Given the description of an element on the screen output the (x, y) to click on. 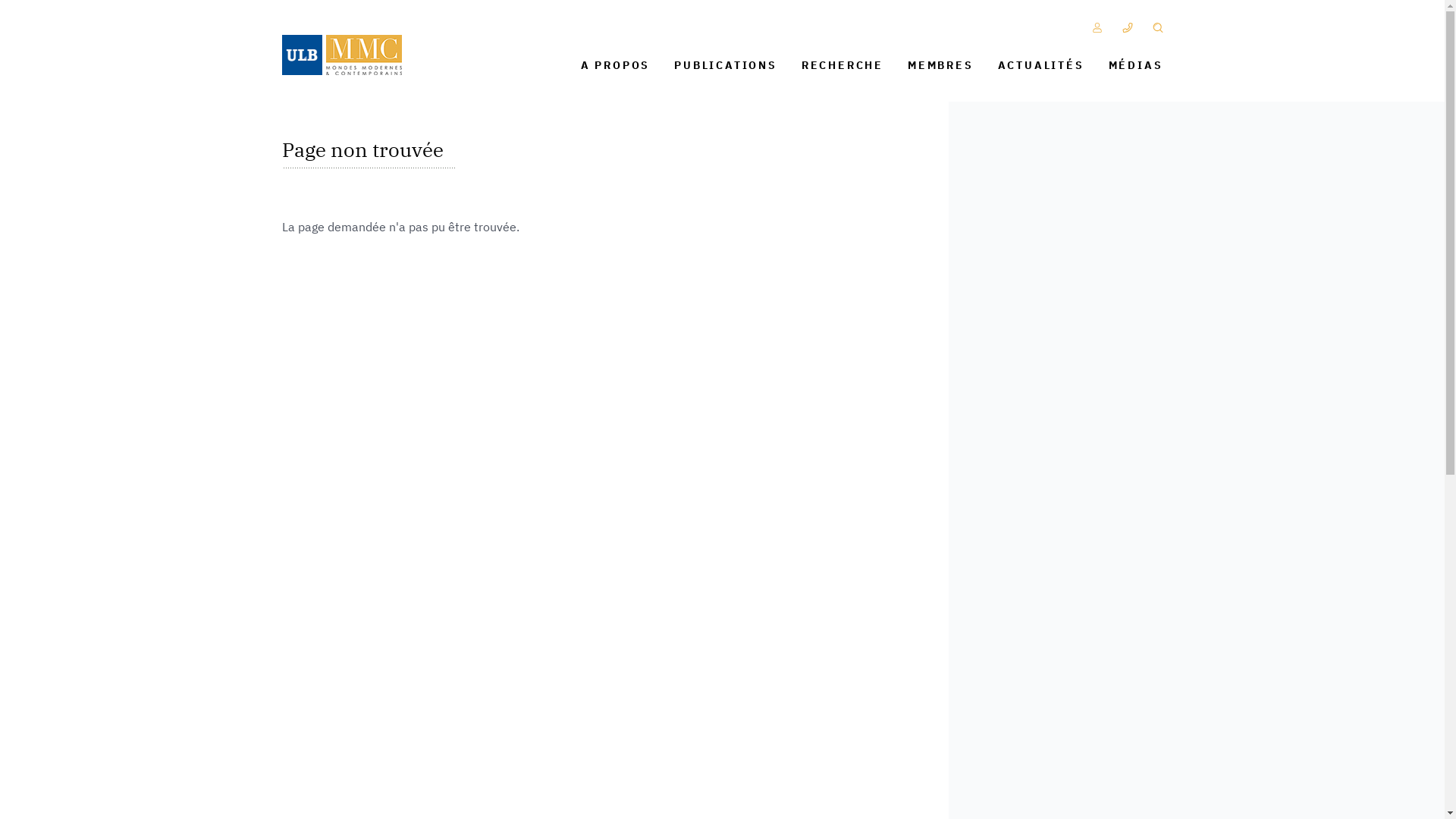
Aller au contenu principal Element type: text (721, 1)
MEMBRES Element type: text (940, 65)
A PROPOS Element type: text (614, 65)
RECHERCHE Element type: text (842, 65)
PUBLICATIONS Element type: text (725, 65)
